Given the description of an element on the screen output the (x, y) to click on. 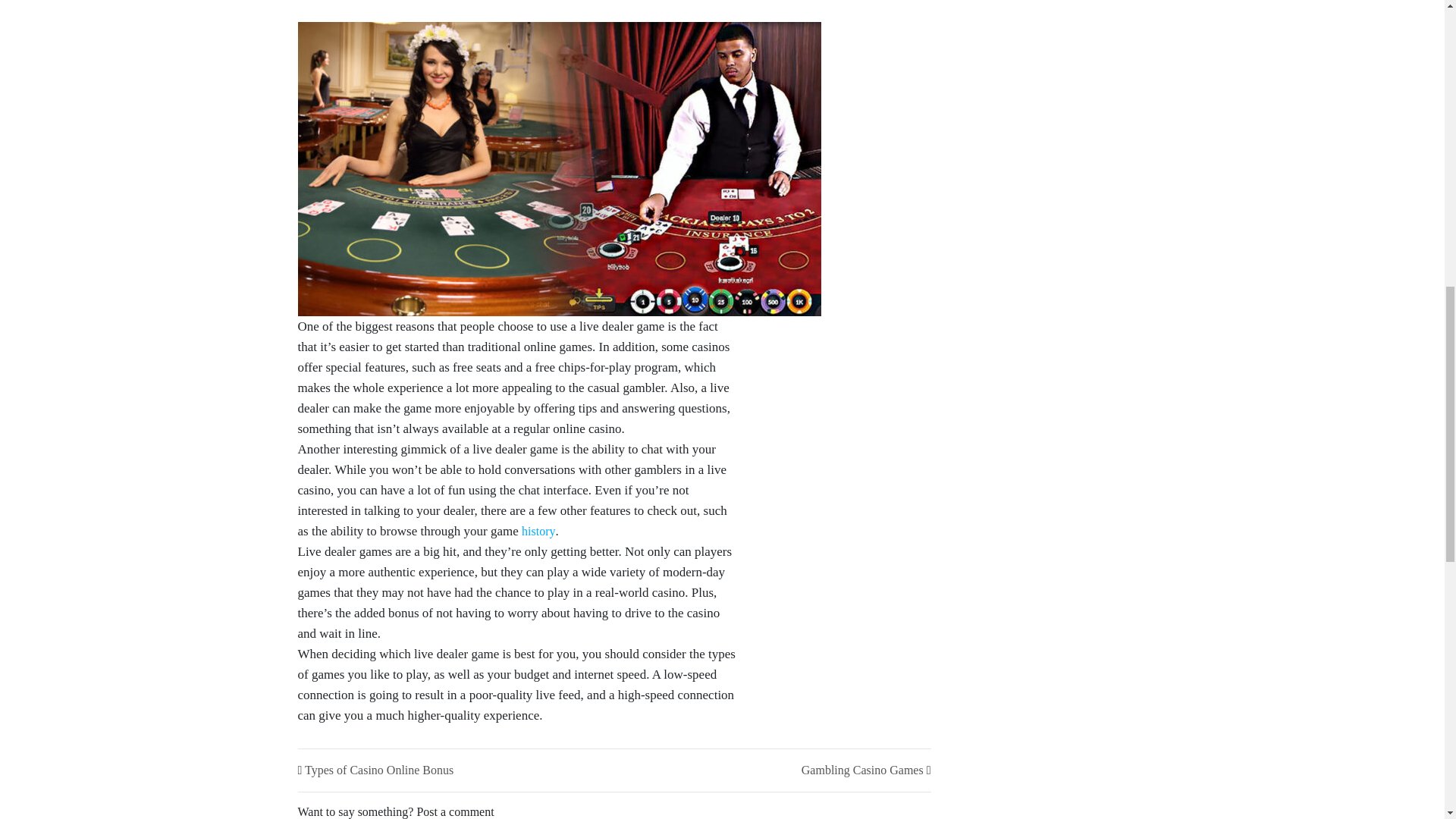
Gambling Casino Games (862, 769)
Types of Casino Online Bonus (378, 769)
history (537, 530)
